Given the description of an element on the screen output the (x, y) to click on. 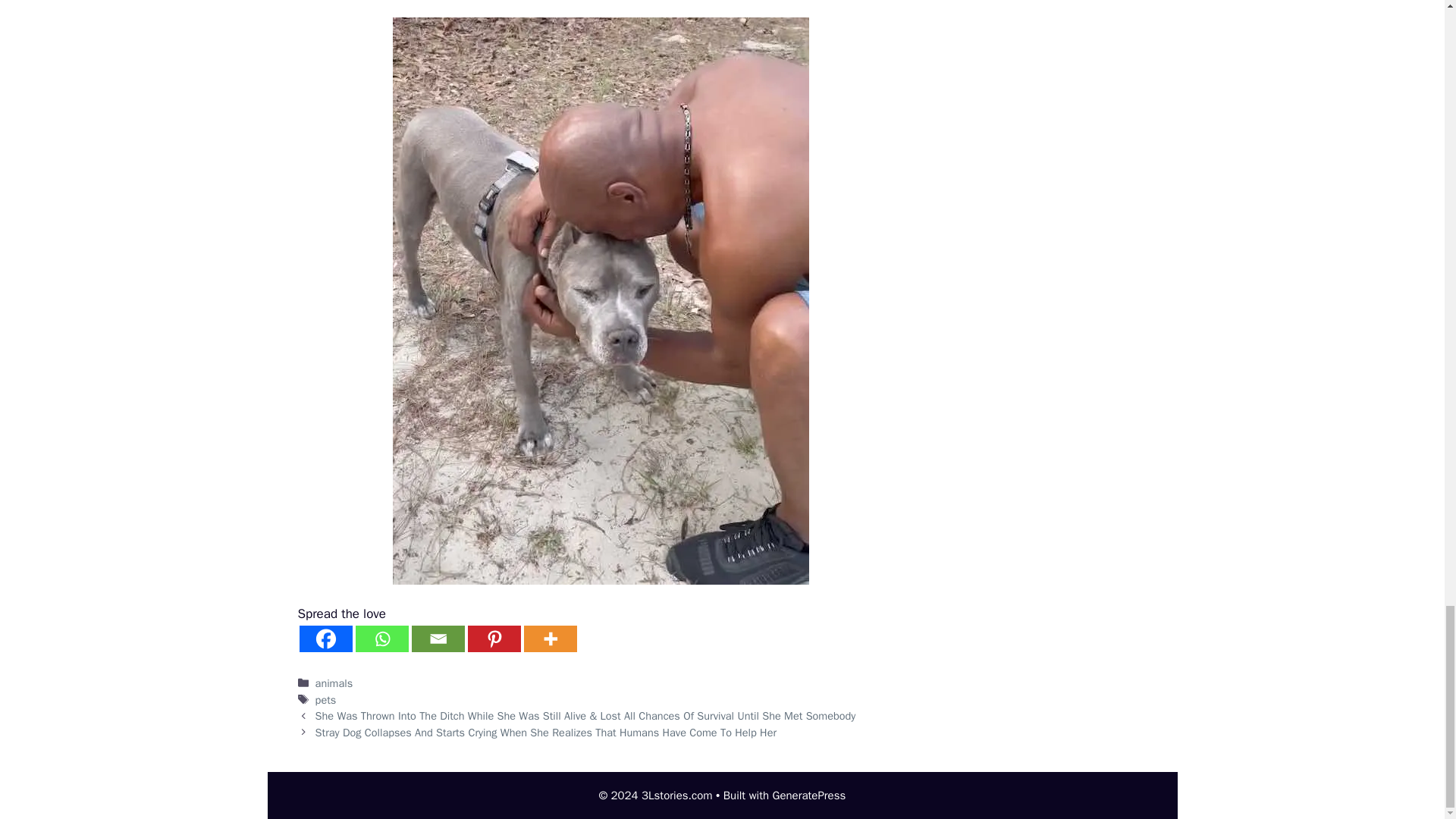
Facebook (325, 638)
Pinterest (493, 638)
pets (325, 699)
Email (437, 638)
Whatsapp (381, 638)
More (549, 638)
animals (334, 683)
